Given the description of an element on the screen output the (x, y) to click on. 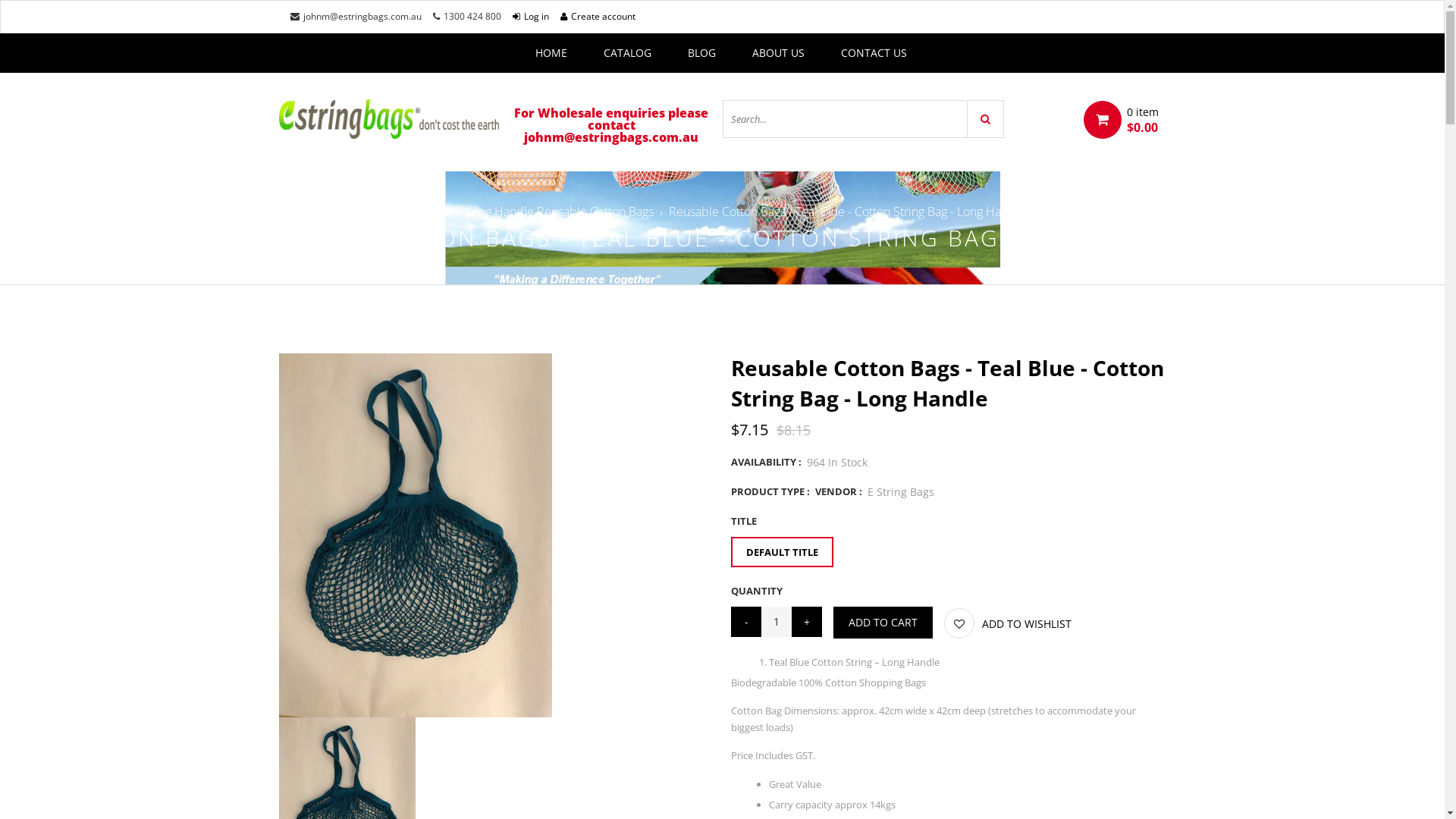
HOME Element type: text (551, 52)
CONTACT US Element type: text (873, 52)
BLOG Element type: text (700, 52)
CATALOG Element type: text (627, 52)
Long Handle Reusable Cotton Bags Element type: text (560, 211)
SEARCH Element type: text (985, 119)
Create account Element type: text (596, 15)
ADD TO WISHLIST Element type: text (1007, 623)
Log in Element type: text (530, 15)
Home Element type: text (434, 211)
ADD TO CART Element type: text (882, 622)
ABOUT US Element type: text (778, 52)
